Given the description of an element on the screen output the (x, y) to click on. 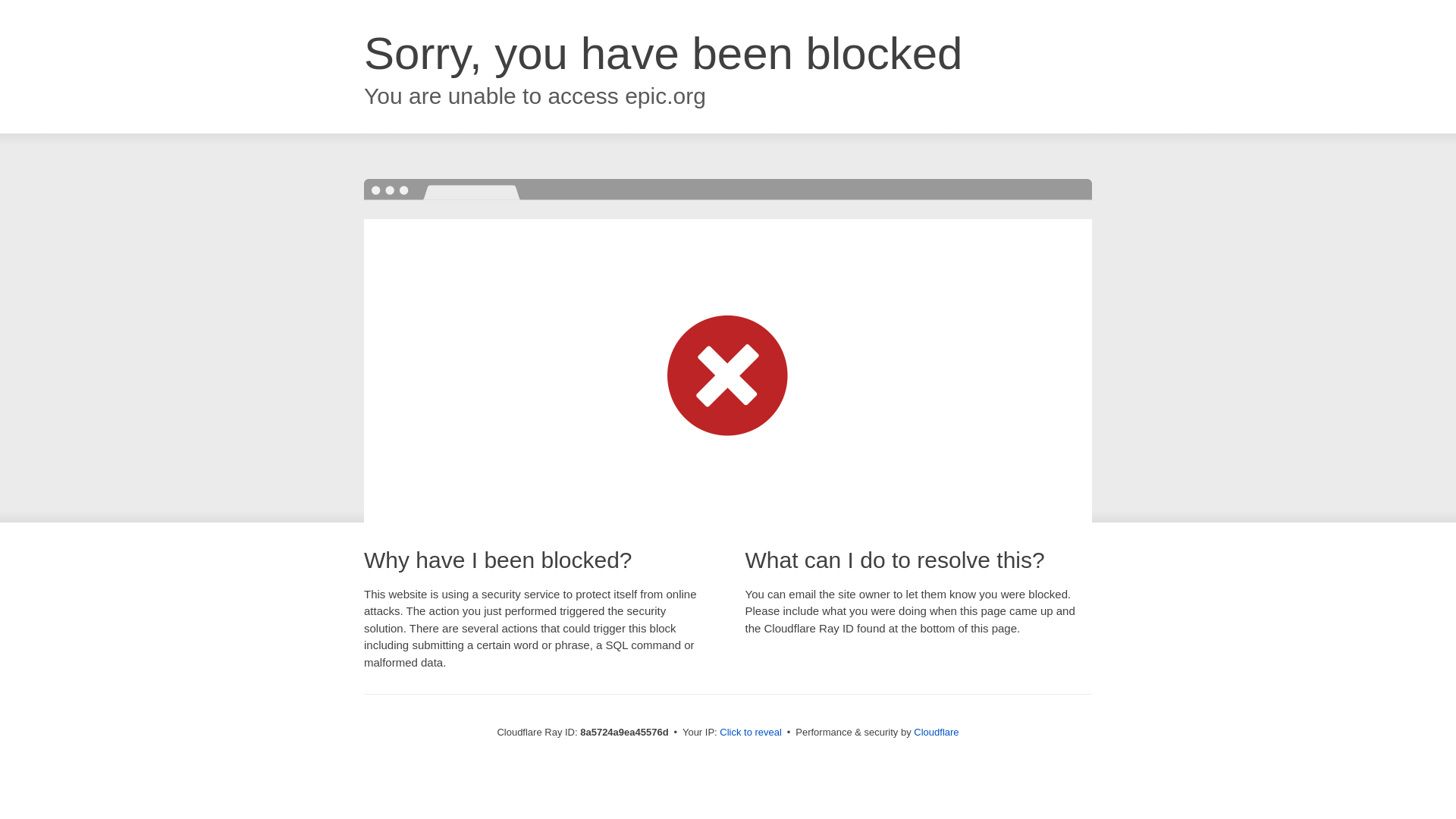
Cloudflare (936, 731)
Click to reveal (750, 732)
